Given the description of an element on the screen output the (x, y) to click on. 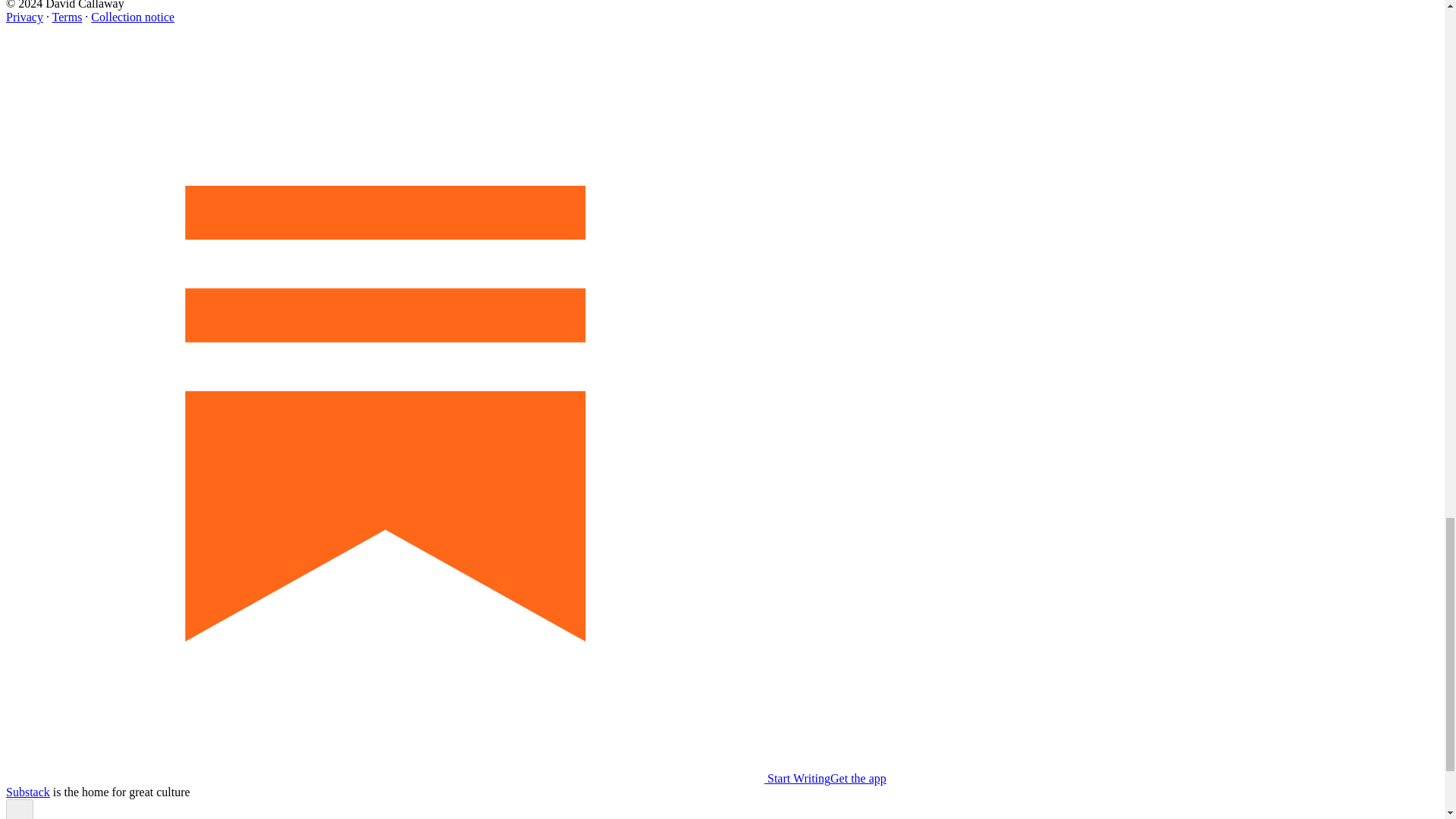
Get the app (857, 778)
Collection notice (132, 16)
Privacy (24, 16)
Terms (67, 16)
Start Writing (417, 778)
Substack (27, 791)
